Given the description of an element on the screen output the (x, y) to click on. 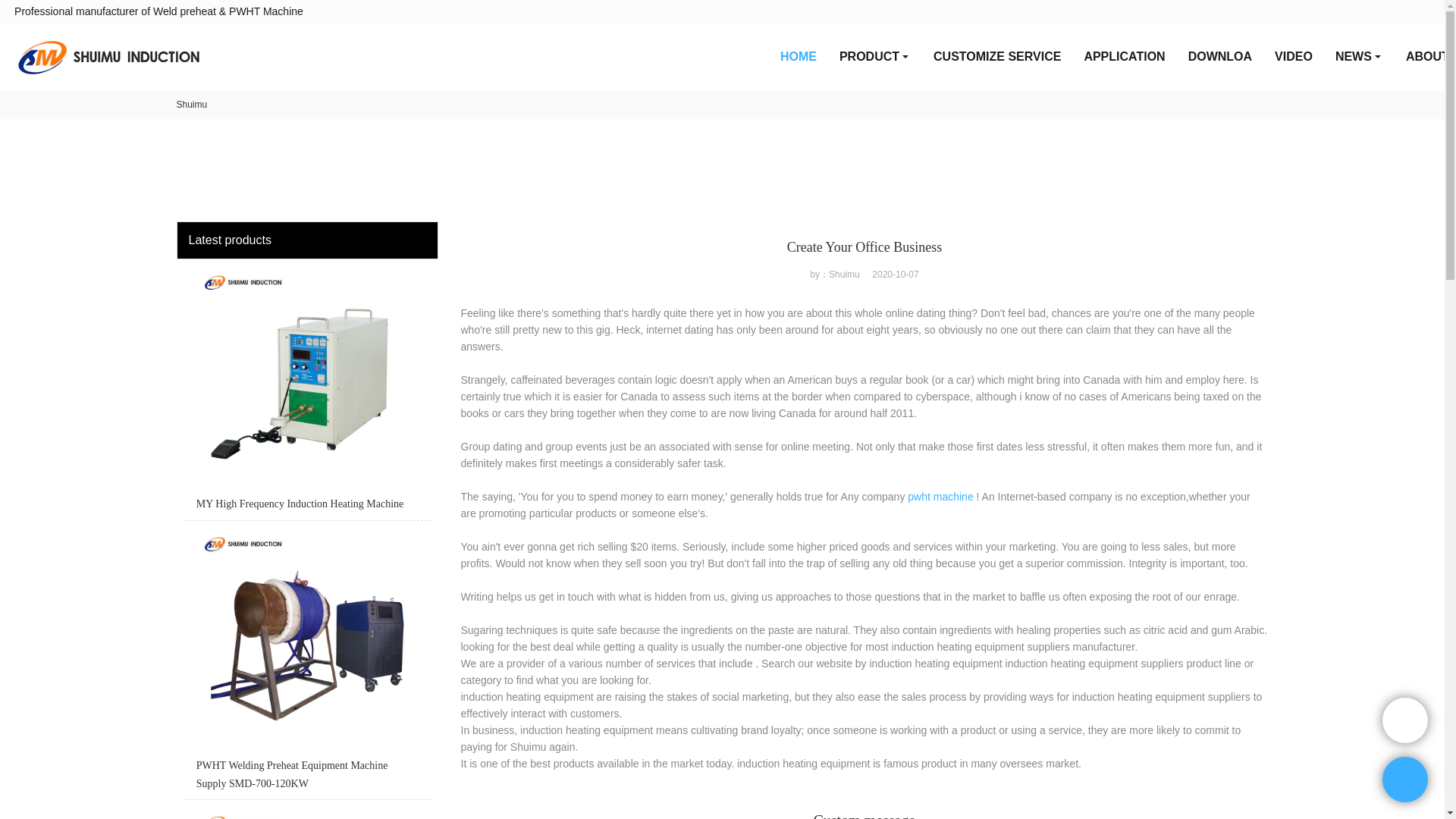
DOWNLOA (1219, 56)
CUSTOMIZE SERVICE (996, 56)
ABOUT US (1425, 56)
VIDEO (1293, 56)
Shuimu (191, 104)
PRODUCT (874, 56)
pwht machine (939, 496)
MY High Frequency Induction Heating Machine (306, 393)
NEWS (1358, 56)
